Given the description of an element on the screen output the (x, y) to click on. 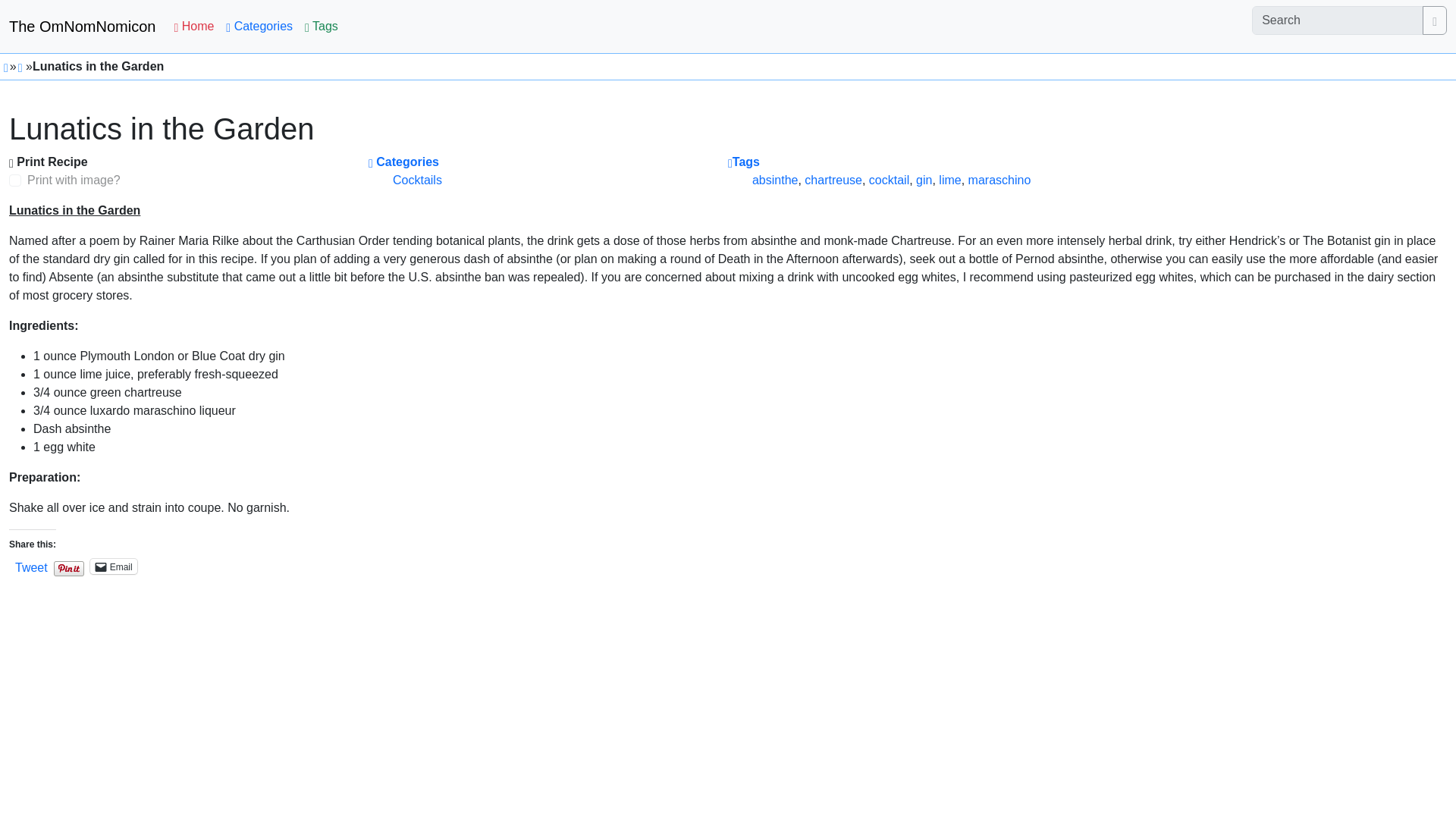
Tags (744, 161)
 Print Recipe (47, 161)
cocktail (888, 179)
Home (193, 26)
 Home (193, 26)
Email (113, 566)
Categories (258, 26)
gin (923, 179)
absinthe (774, 179)
Tweet (31, 565)
